Given the description of an element on the screen output the (x, y) to click on. 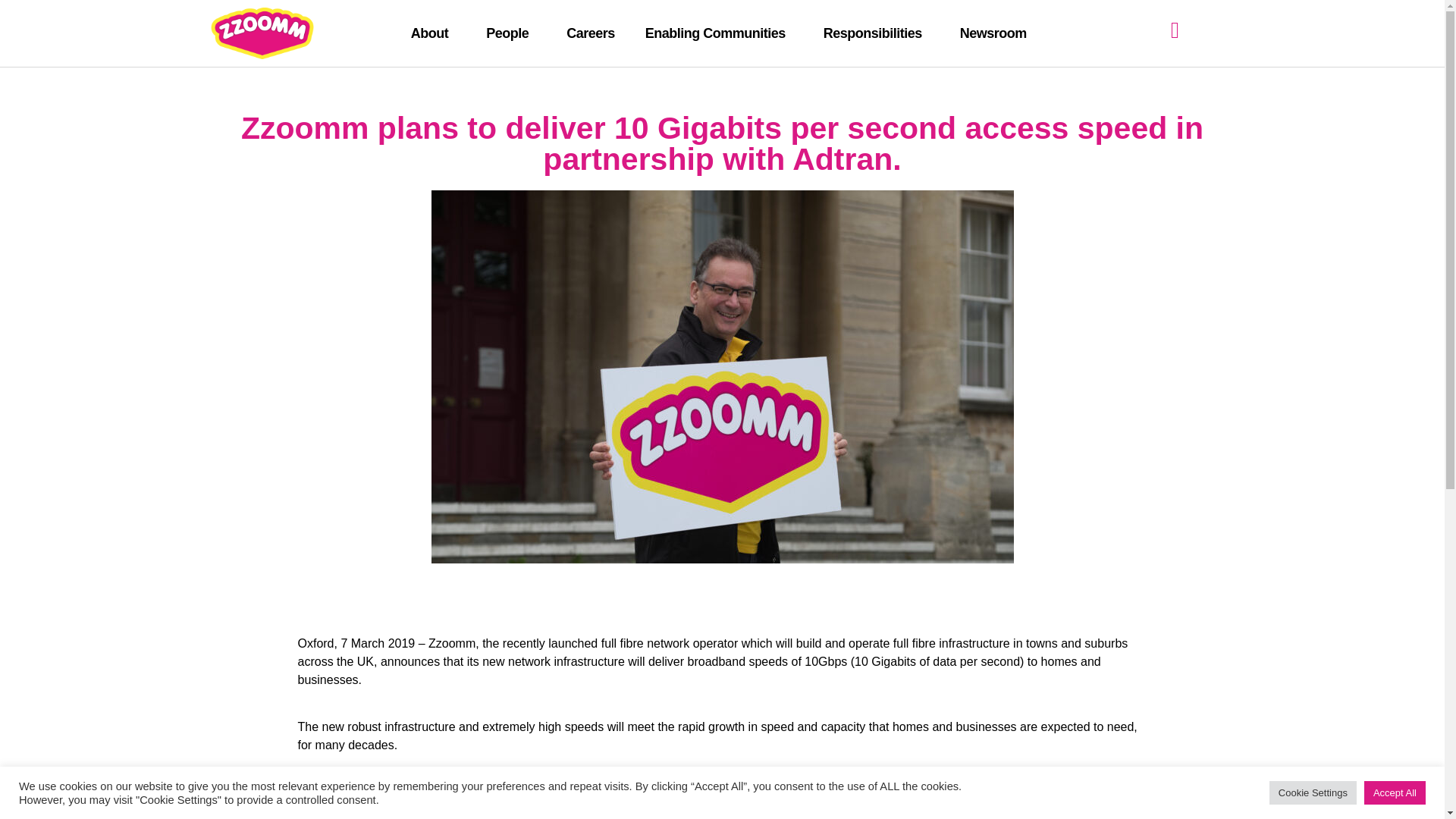
Newsroom (993, 32)
People (510, 32)
Careers (590, 32)
Responsibilities (876, 32)
Enabling Communities (719, 32)
About (433, 32)
